Given the description of an element on the screen output the (x, y) to click on. 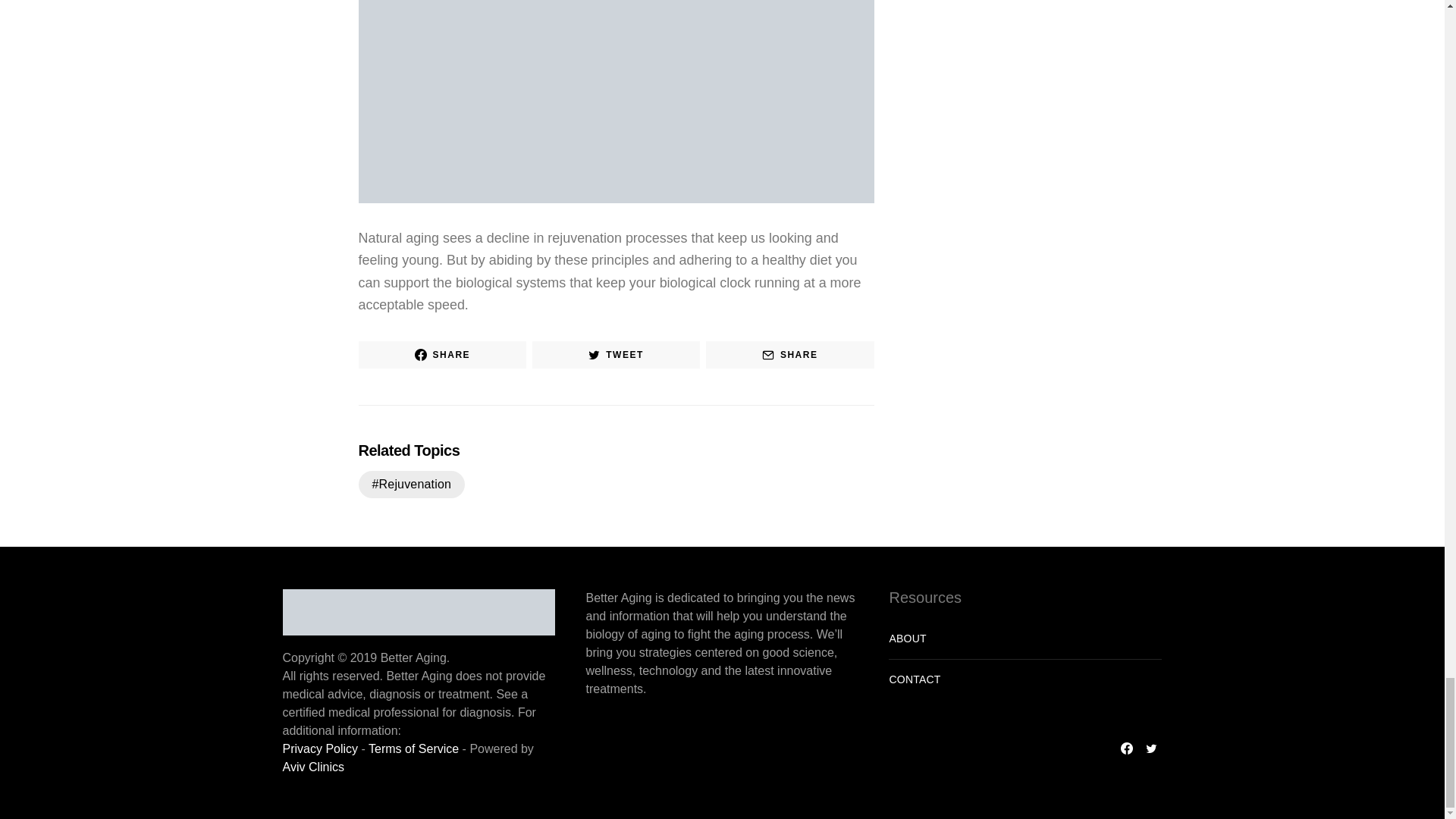
Rejuvenation (411, 483)
TWEET (616, 354)
SHARE (441, 354)
SHARE (790, 354)
